Given the description of an element on the screen output the (x, y) to click on. 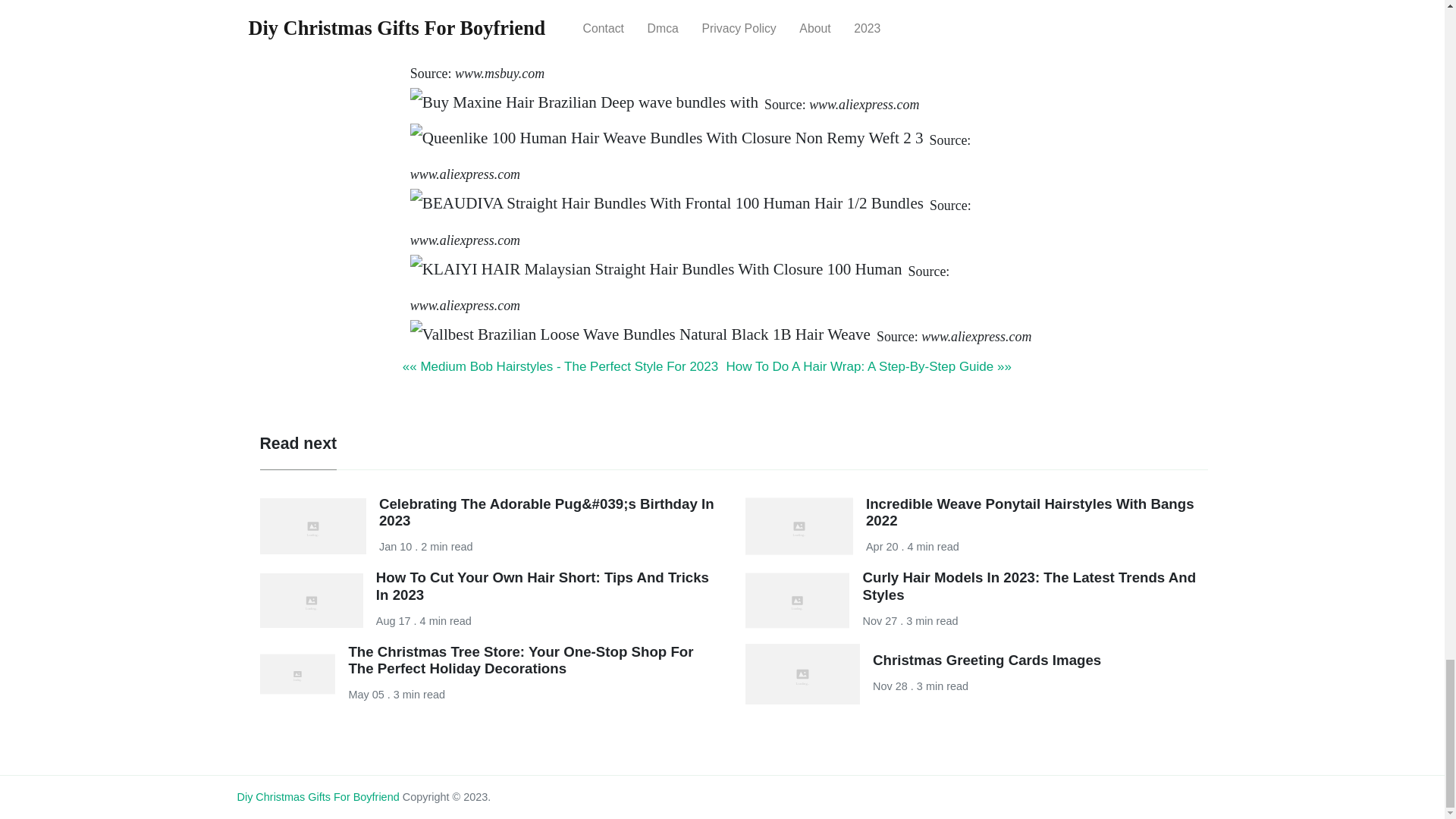
How To Cut Your Own Hair Short: Tips And Tricks In 2023 (542, 585)
Diy Christmas Gifts For Boyfriend (316, 797)
Curly Hair Models In 2023: The Latest Trends And Styles (1028, 585)
Incredible Weave Ponytail Hairstyles With Bangs 2022 (1029, 512)
Christmas Greeting Cards Images (986, 659)
